Given the description of an element on the screen output the (x, y) to click on. 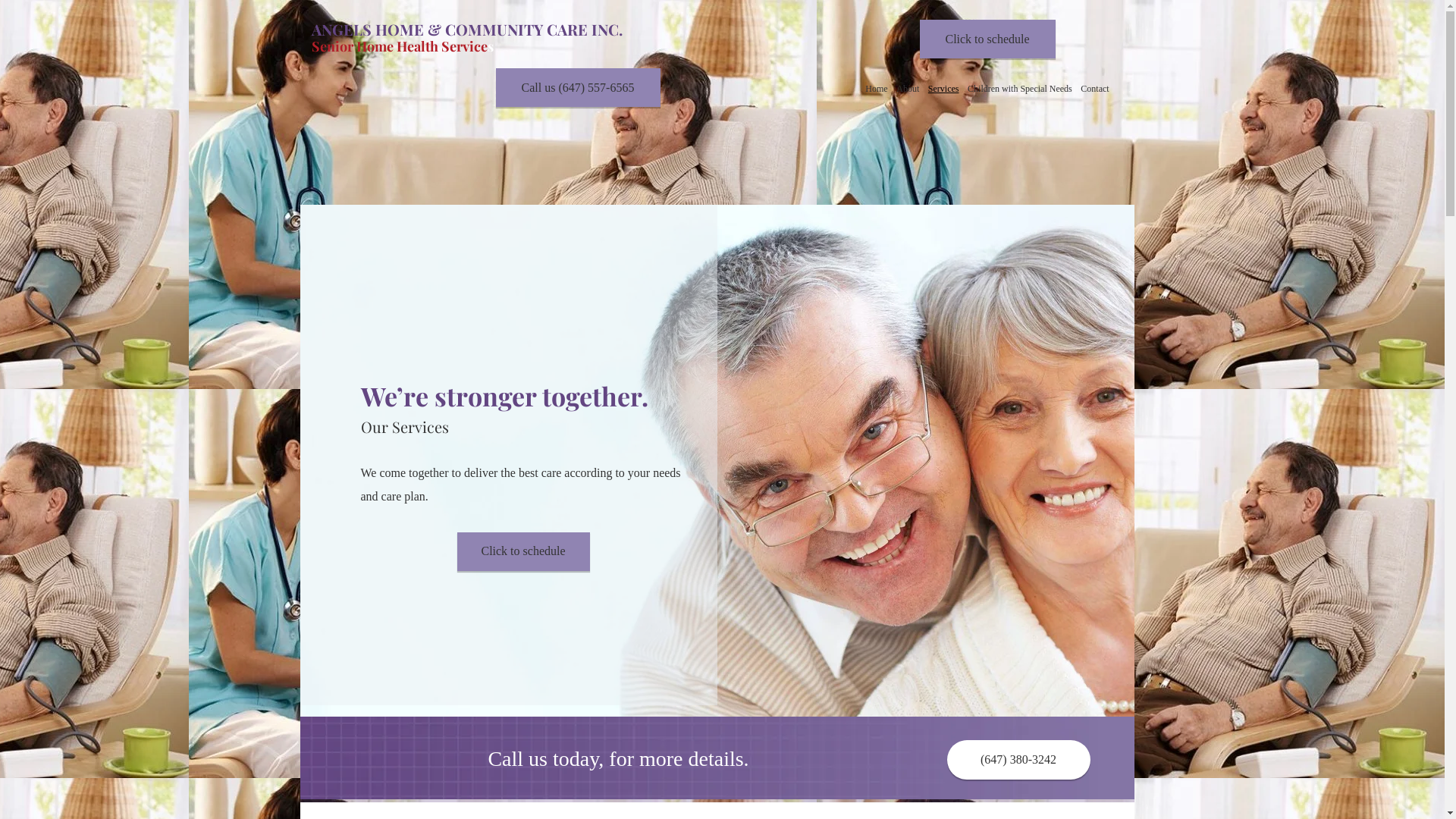
Home Element type: text (876, 88)
Click to schedule Element type: text (522, 551)
About Element type: text (907, 88)
Children with Special Needs Element type: text (1019, 88)
Contact Element type: text (1094, 88)
Click to schedule Element type: text (986, 38)
(647) 380-3242 Element type: text (1017, 759)
Services Element type: text (943, 88)
Call us (647) 557-6565 Element type: text (577, 87)
